Given the description of an element on the screen output the (x, y) to click on. 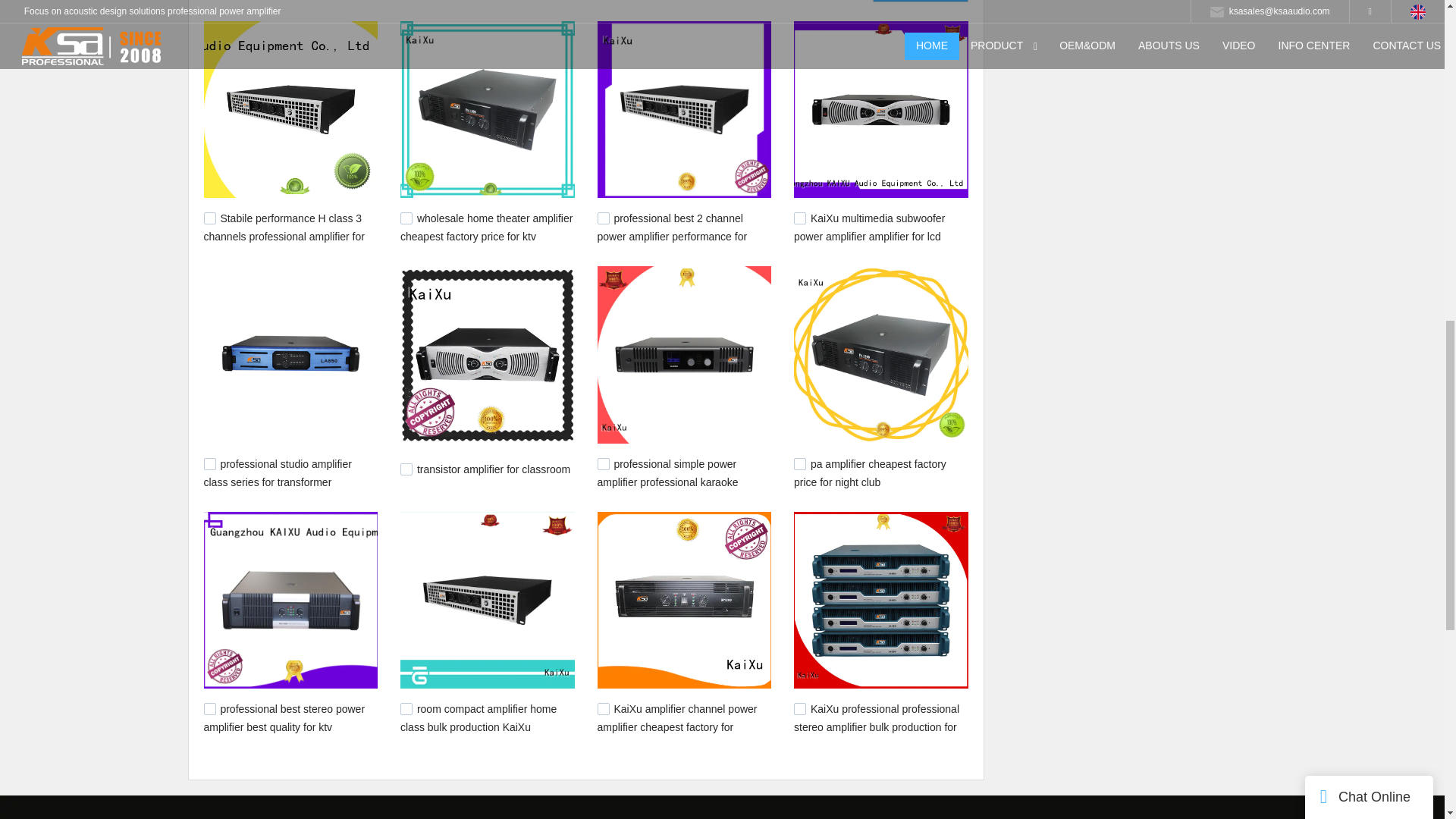
professional studio amplifier class series for transformer (276, 472)
892 (799, 218)
612 (209, 708)
KaiXu multimedia subwoofer power amplifier amplifier for lcd (868, 227)
KaiXu multimedia subwoofer power amplifier amplifier for lcd (868, 227)
909 (603, 218)
789 (406, 469)
670 (799, 463)
795 (209, 463)
pa amplifier cheapest factory price for night club (869, 472)
